Given the description of an element on the screen output the (x, y) to click on. 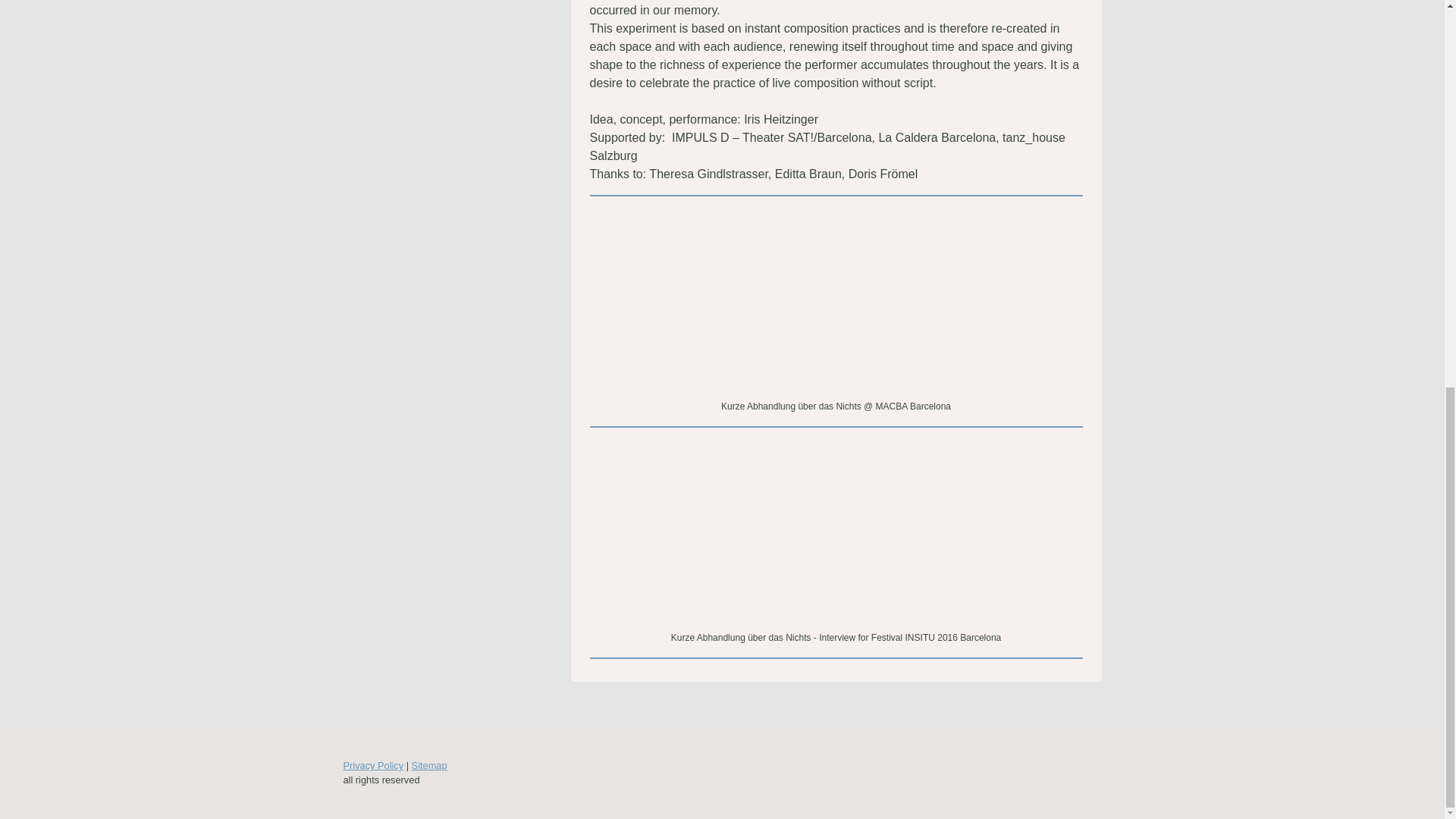
Privacy Policy (372, 765)
Sitemap (429, 765)
